Given the description of an element on the screen output the (x, y) to click on. 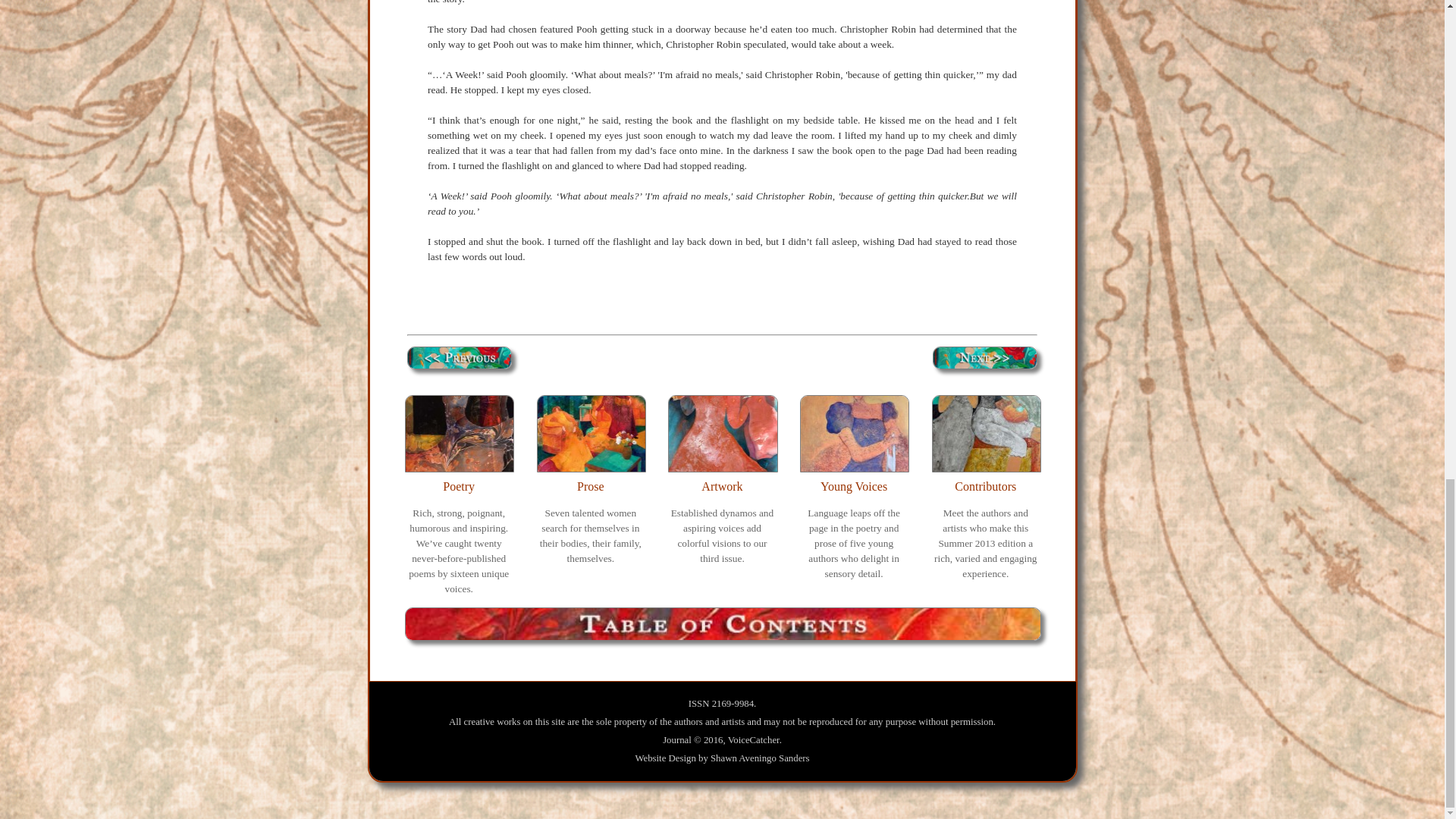
Prose (590, 486)
Young Voices (853, 486)
Contributors (985, 486)
Poetry (458, 486)
Artwork (721, 486)
